Given the description of an element on the screen output the (x, y) to click on. 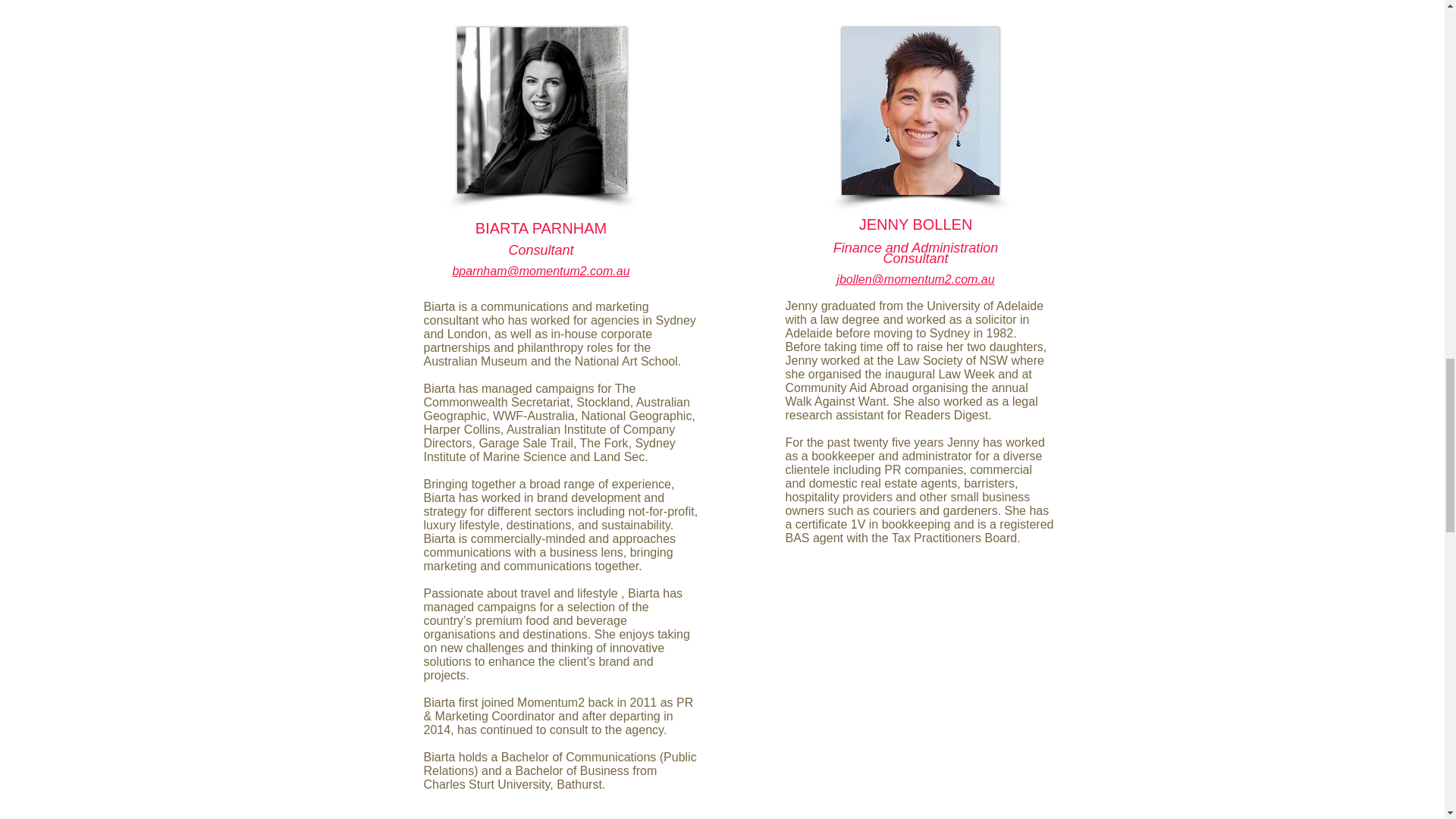
Jenny.jpg (541, 110)
